Given the description of an element on the screen output the (x, y) to click on. 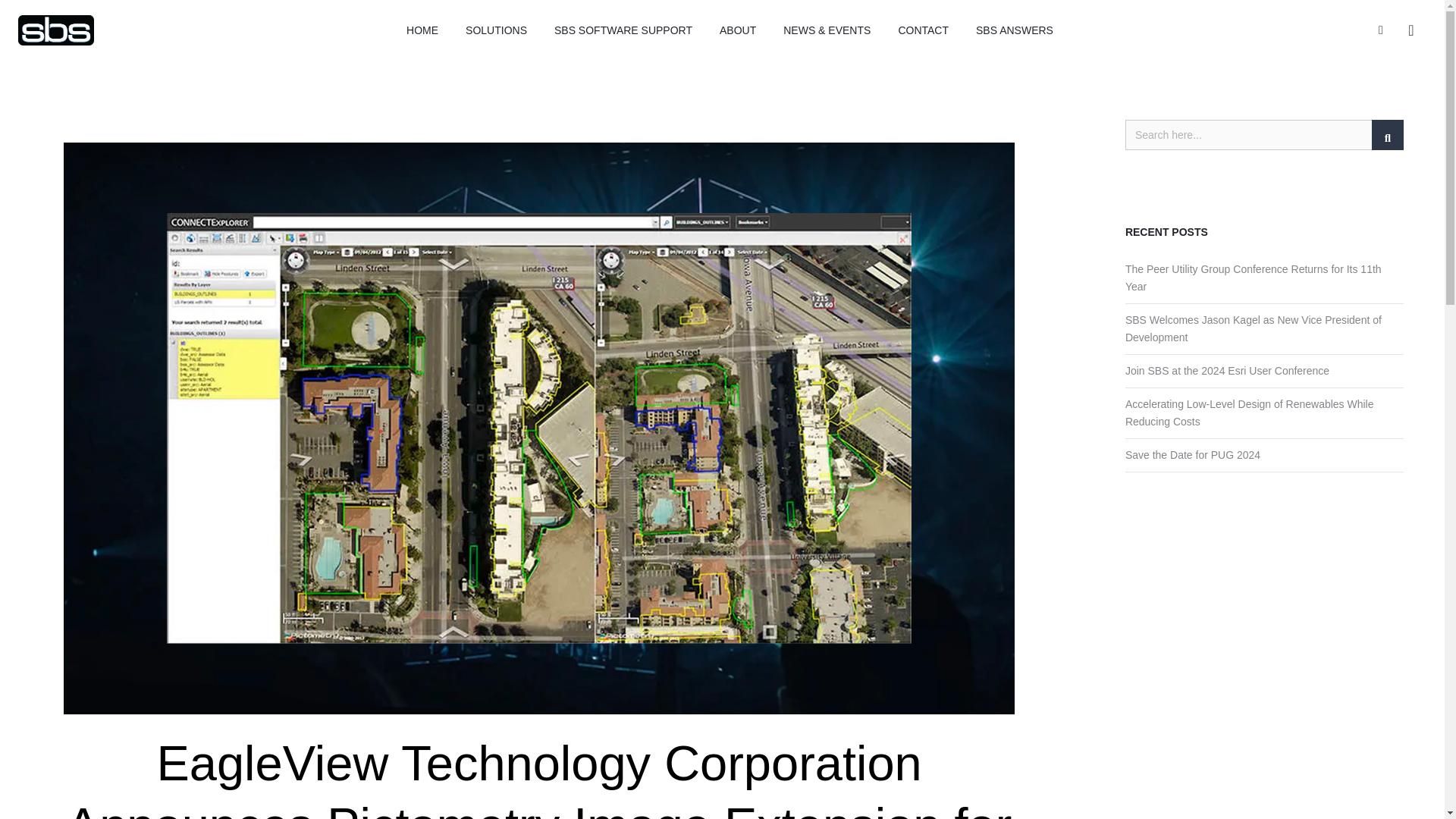
Search here... (1264, 134)
Spatial Business Systems, LLC. (55, 30)
Search here... (1264, 134)
